Given the description of an element on the screen output the (x, y) to click on. 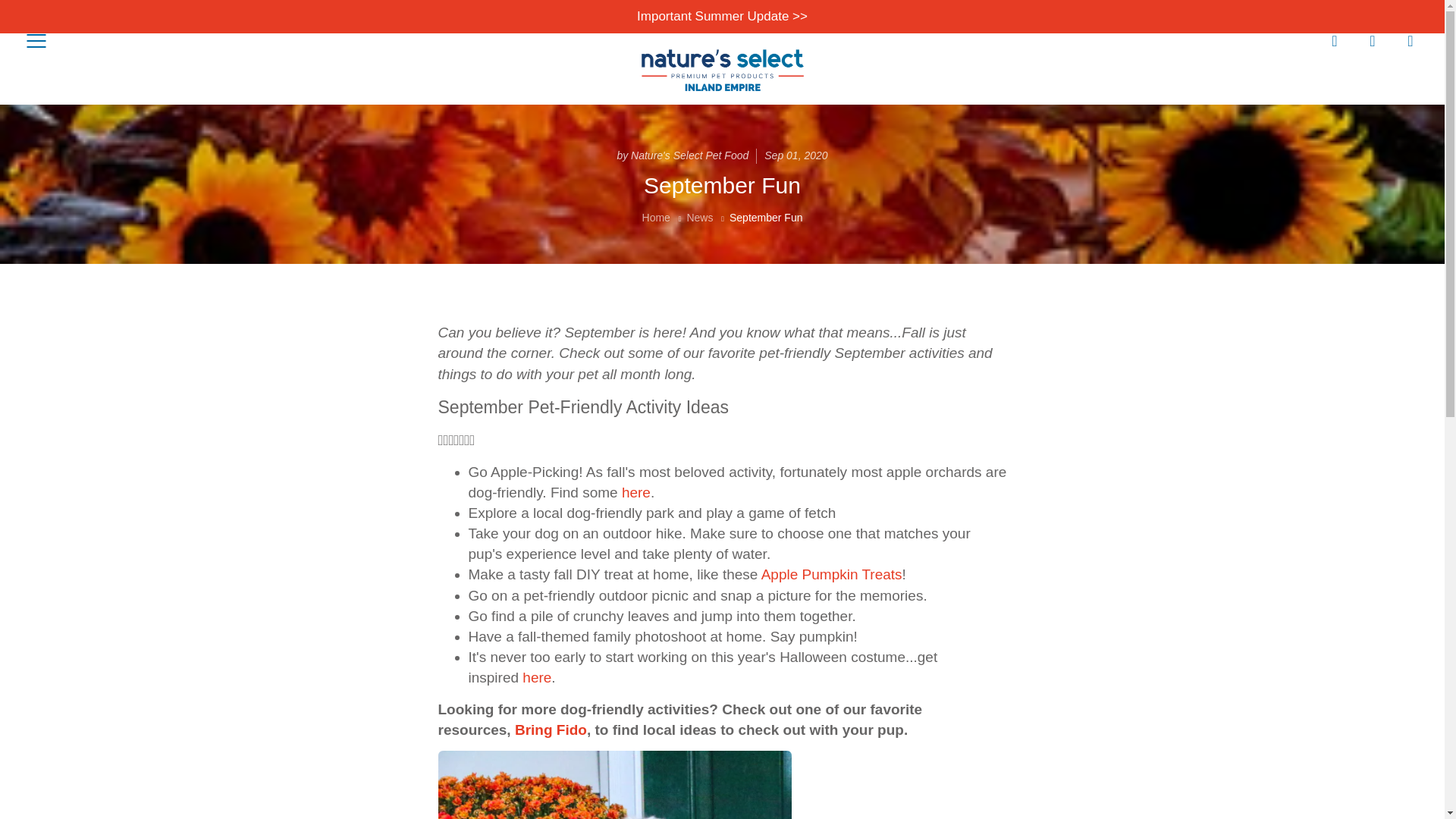
Press space bar to toggle menu (36, 40)
Halloween pet costume ideas (536, 677)
You have 0 items in your cart (1410, 40)
Fall Dog Treat DIY (831, 574)
Dog Friendly Apple Orchards (635, 492)
Bring Fido (550, 729)
Home (655, 217)
My account (1372, 40)
Search (1334, 40)
